Given the description of an element on the screen output the (x, y) to click on. 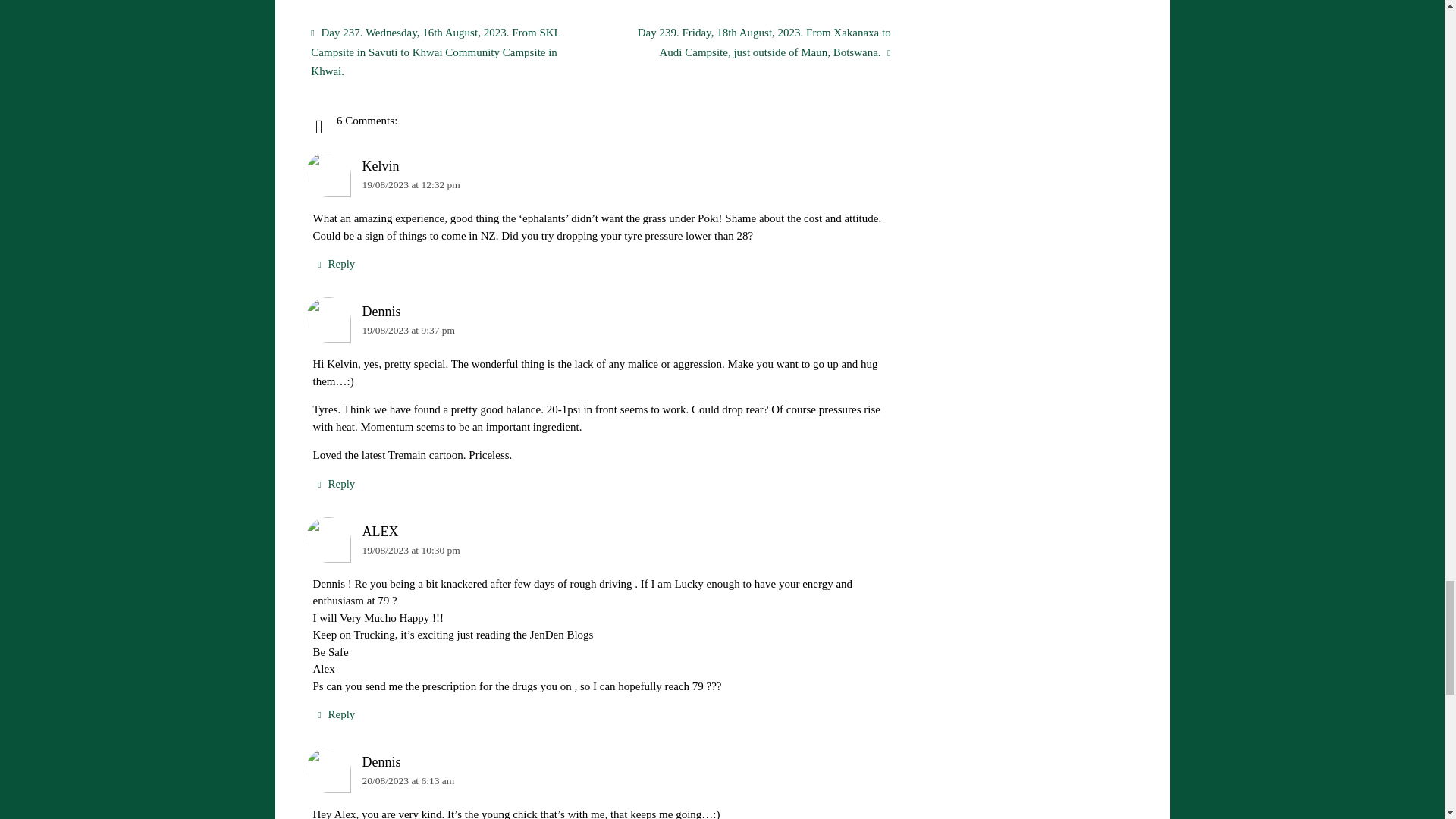
Reply (334, 263)
Reply (334, 714)
Reply (334, 484)
